Given the description of an element on the screen output the (x, y) to click on. 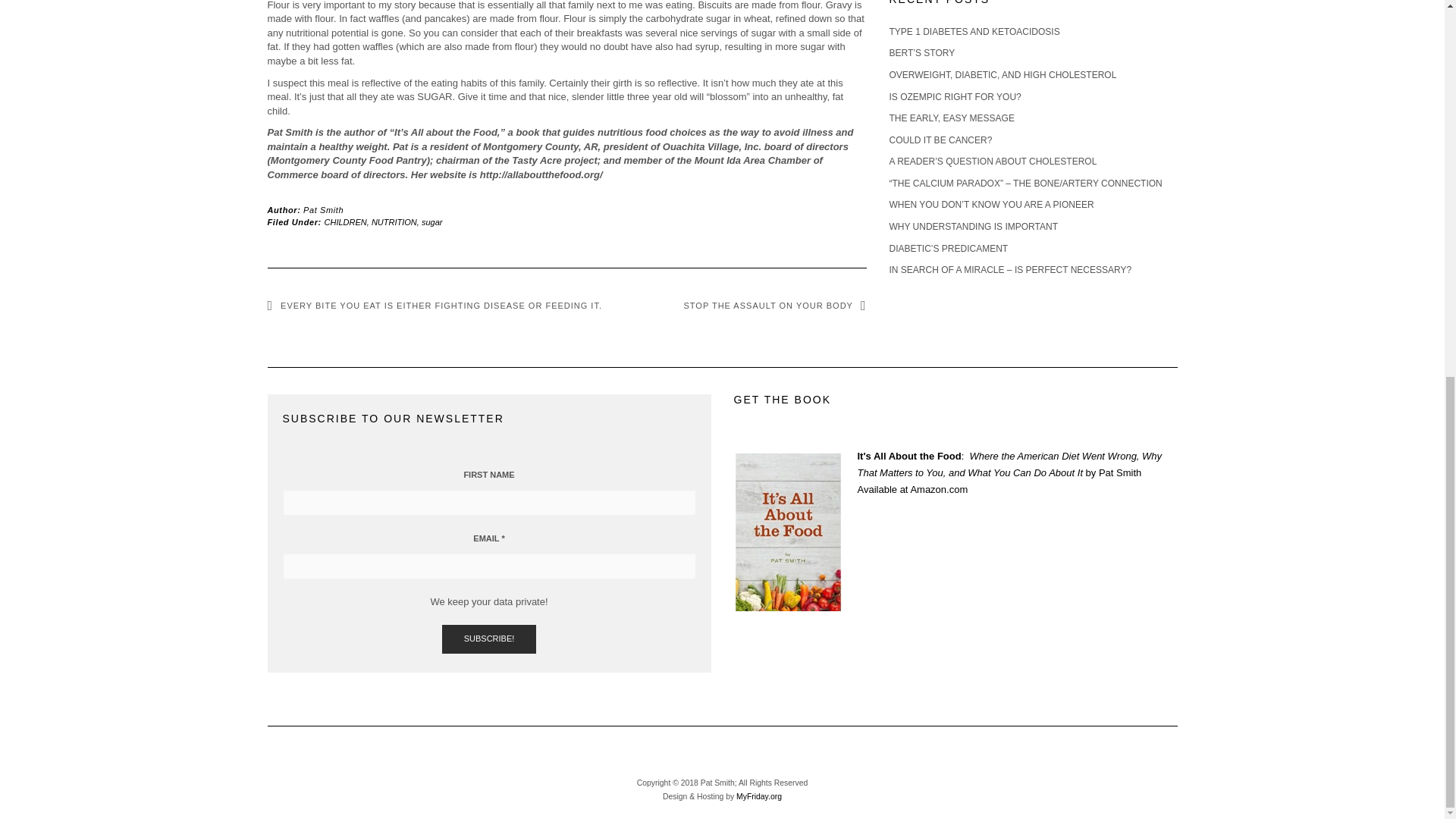
THE EARLY, EASY MESSAGE (950, 118)
CHILDREN (345, 221)
TYPE 1 DIABETES AND KETOACIDOSIS (973, 31)
EVERY BITE YOU EAT IS EITHER FIGHTING DISEASE OR FEEDING IT. (433, 305)
Subscribe! (489, 638)
Email (488, 566)
MyFriday.org (758, 796)
OVERWEIGHT, DIABETIC, AND HIGH CHOLESTEROL (1002, 74)
STOP THE ASSAULT ON YOUR BODY (775, 305)
IS OZEMPIC RIGHT FOR YOU? (954, 96)
